Given the description of an element on the screen output the (x, y) to click on. 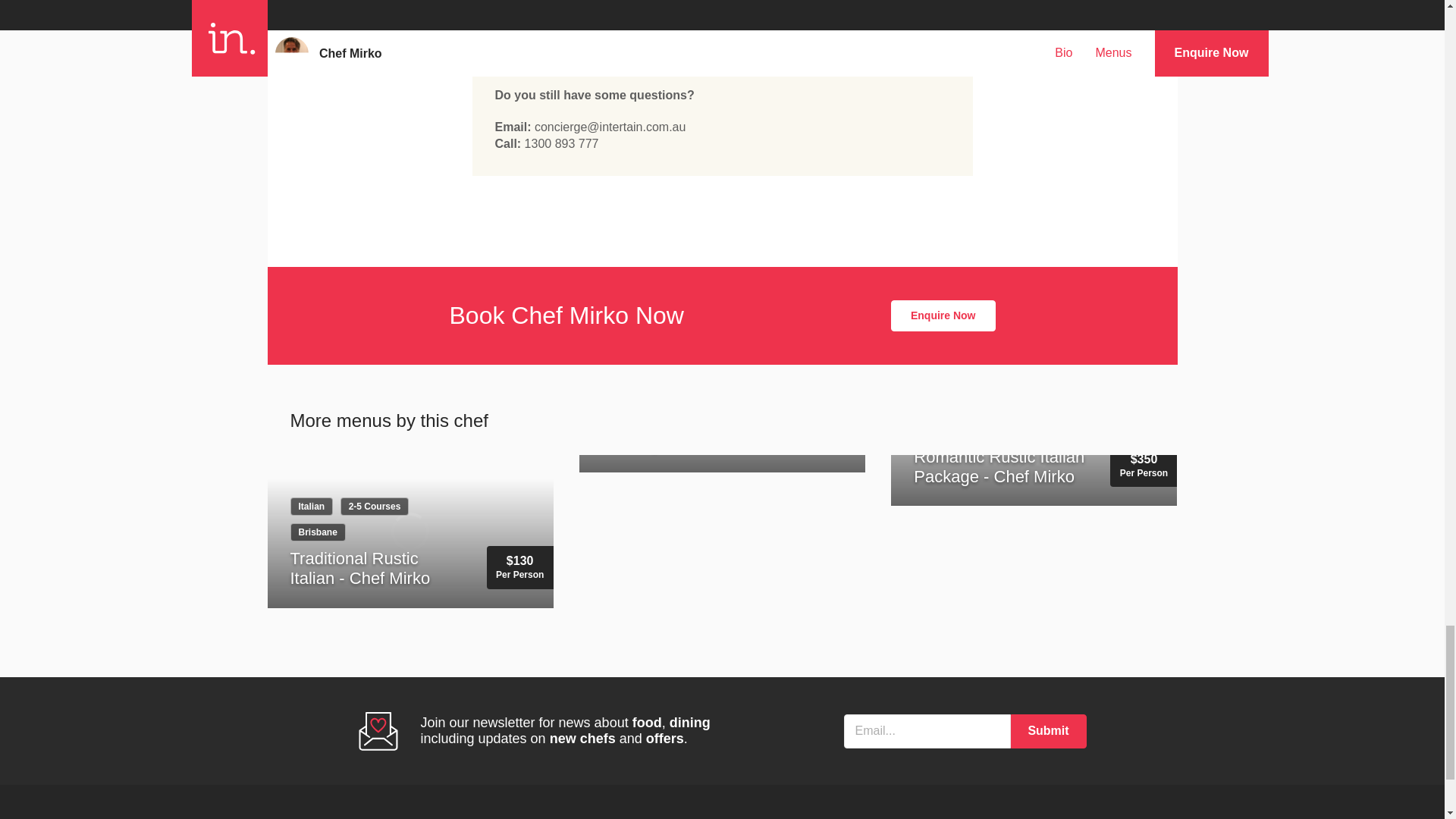
Submit (1048, 731)
Enquire Now (943, 316)
More Information (721, 59)
